Given the description of an element on the screen output the (x, y) to click on. 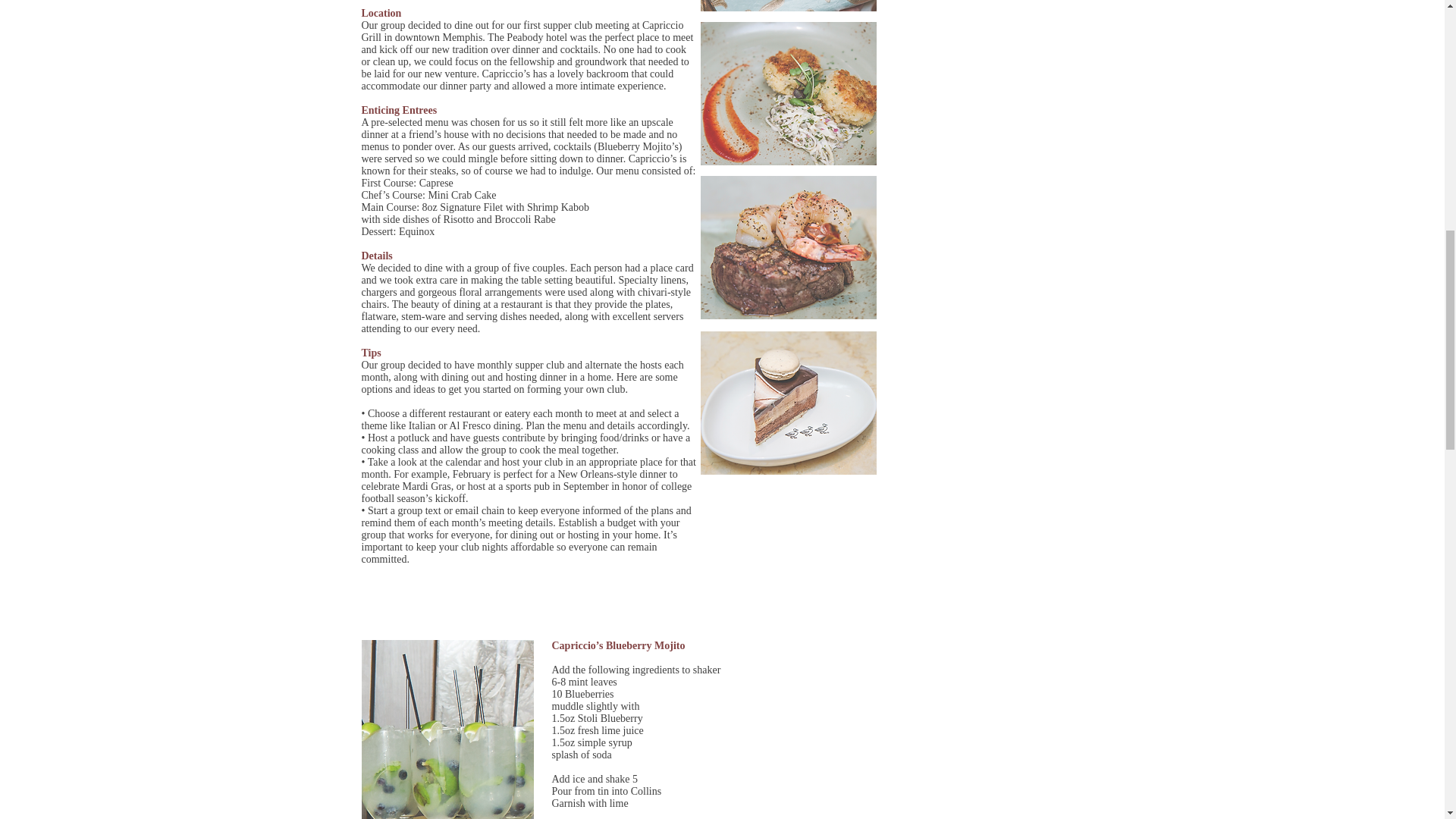
HopeFinal-14.png (788, 5)
HopeFinal-22.png (788, 247)
HopeFinal-2.png (446, 729)
HopeFinal-20.png (788, 93)
HopeFinal-29.png (788, 403)
